Given the description of an element on the screen output the (x, y) to click on. 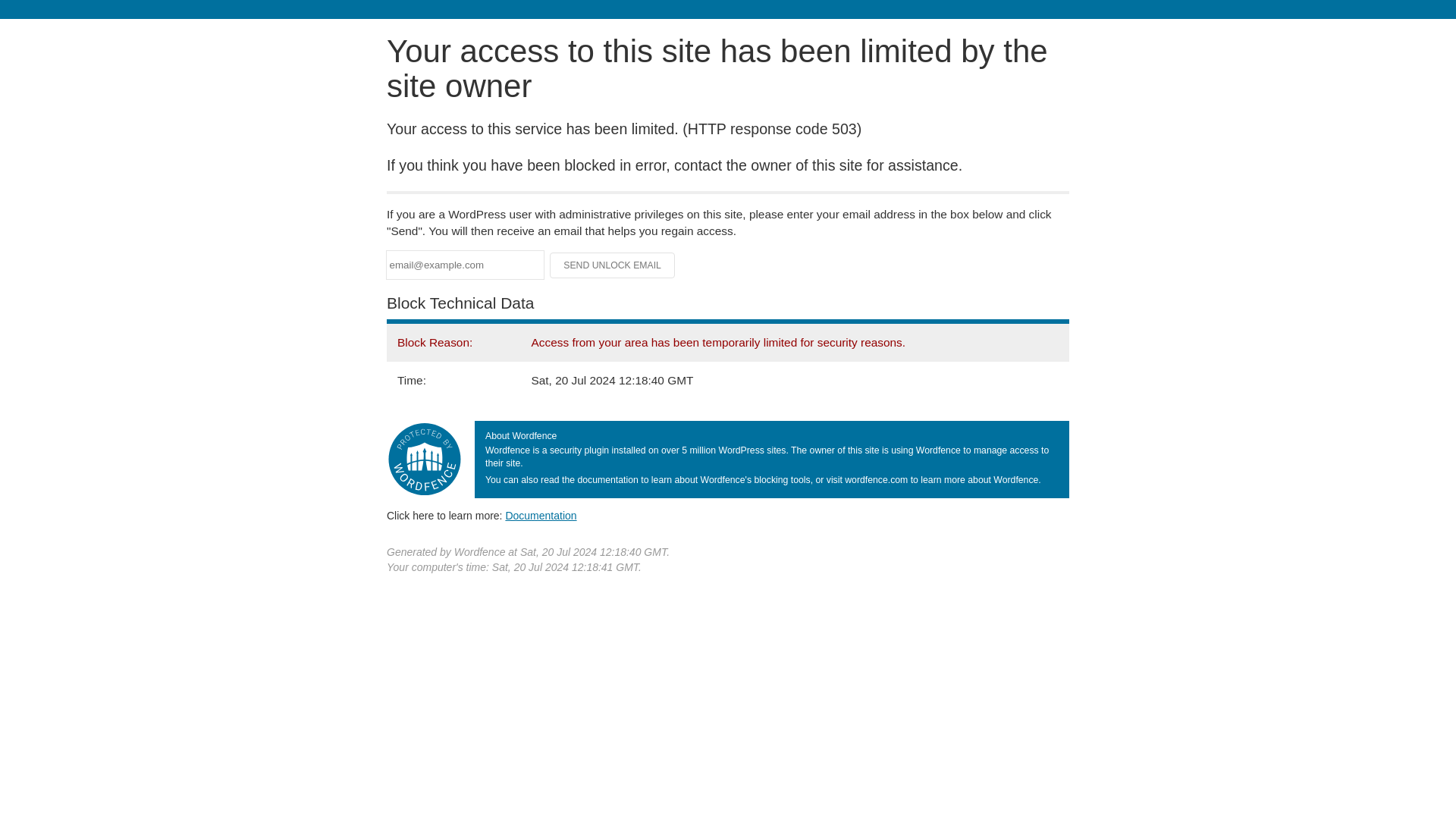
Send Unlock Email (612, 265)
Send Unlock Email (612, 265)
Documentation (540, 515)
